Given the description of an element on the screen output the (x, y) to click on. 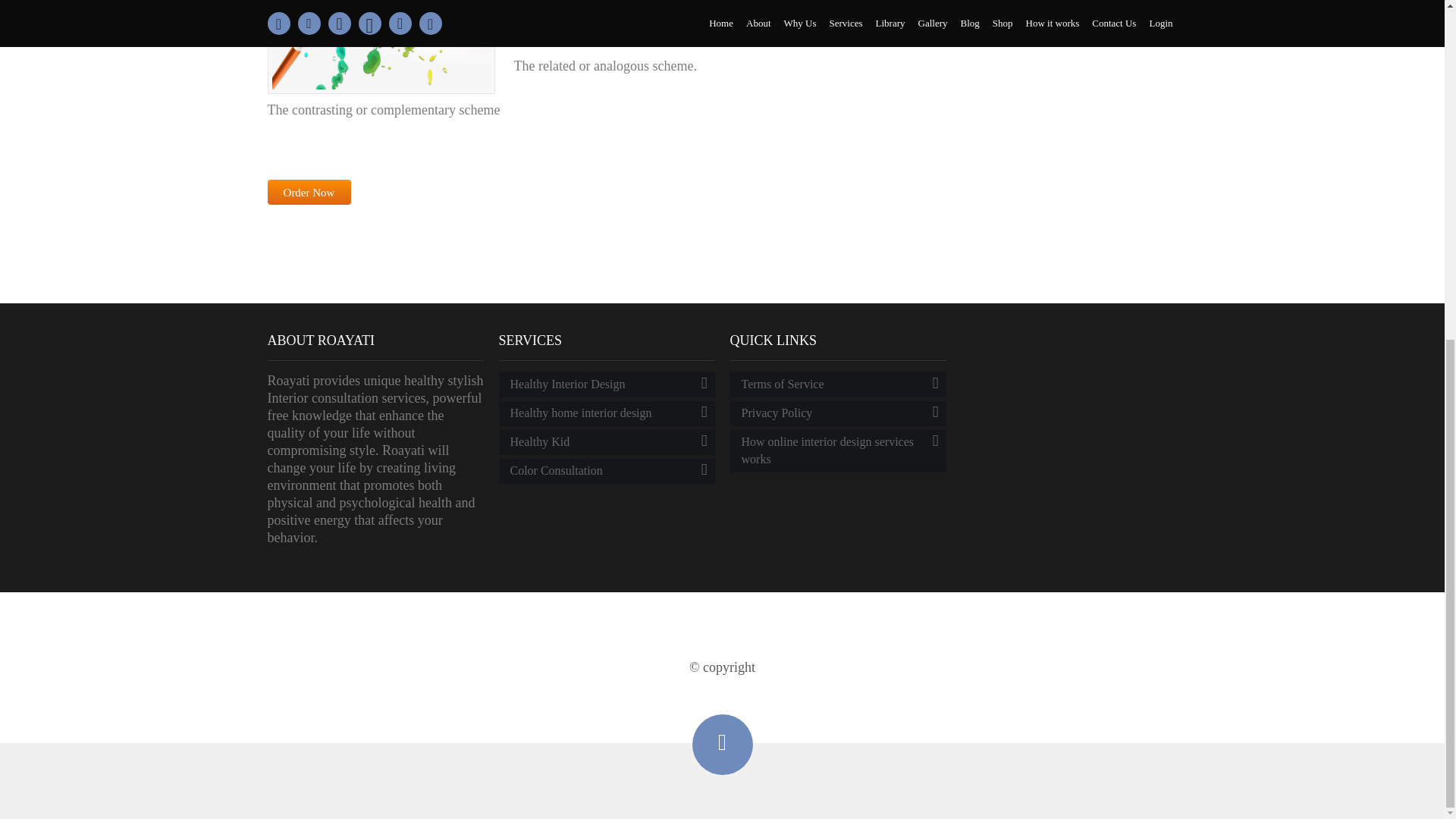
Terms of Service (836, 384)
Healthy Kid (606, 442)
Privacy Policy (836, 413)
Color Consultation (606, 471)
Order Now (308, 191)
Healthy home interior design (606, 413)
Healthy Interior Design (606, 384)
How online interior design services works (836, 450)
